Given the description of an element on the screen output the (x, y) to click on. 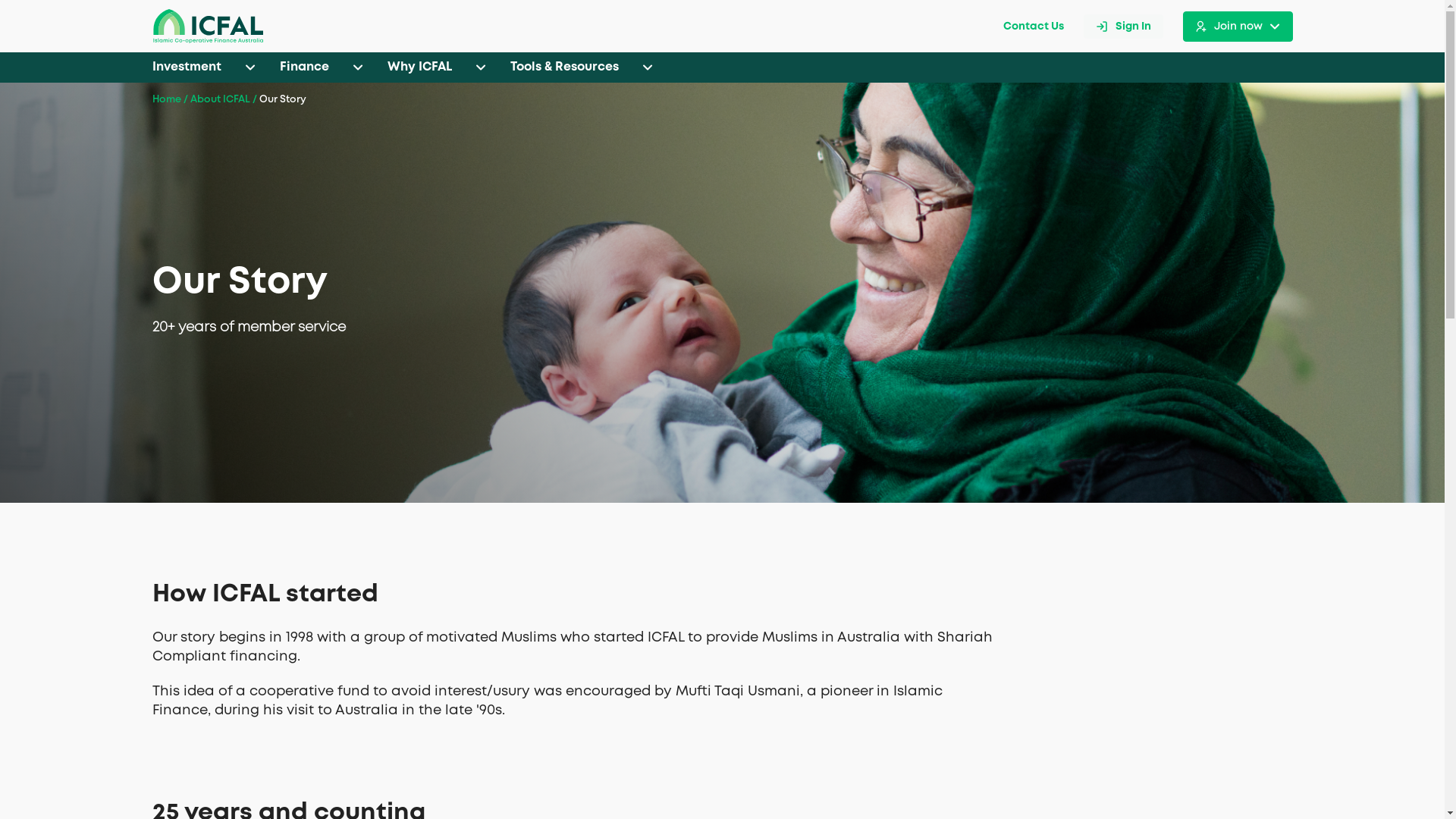
Home Element type: text (165, 99)
Join now Element type: text (1237, 25)
Contact Us Element type: text (1032, 26)
 / About ICFAL / Element type: text (218, 99)
Sign In Element type: text (1122, 25)
